Given the description of an element on the screen output the (x, y) to click on. 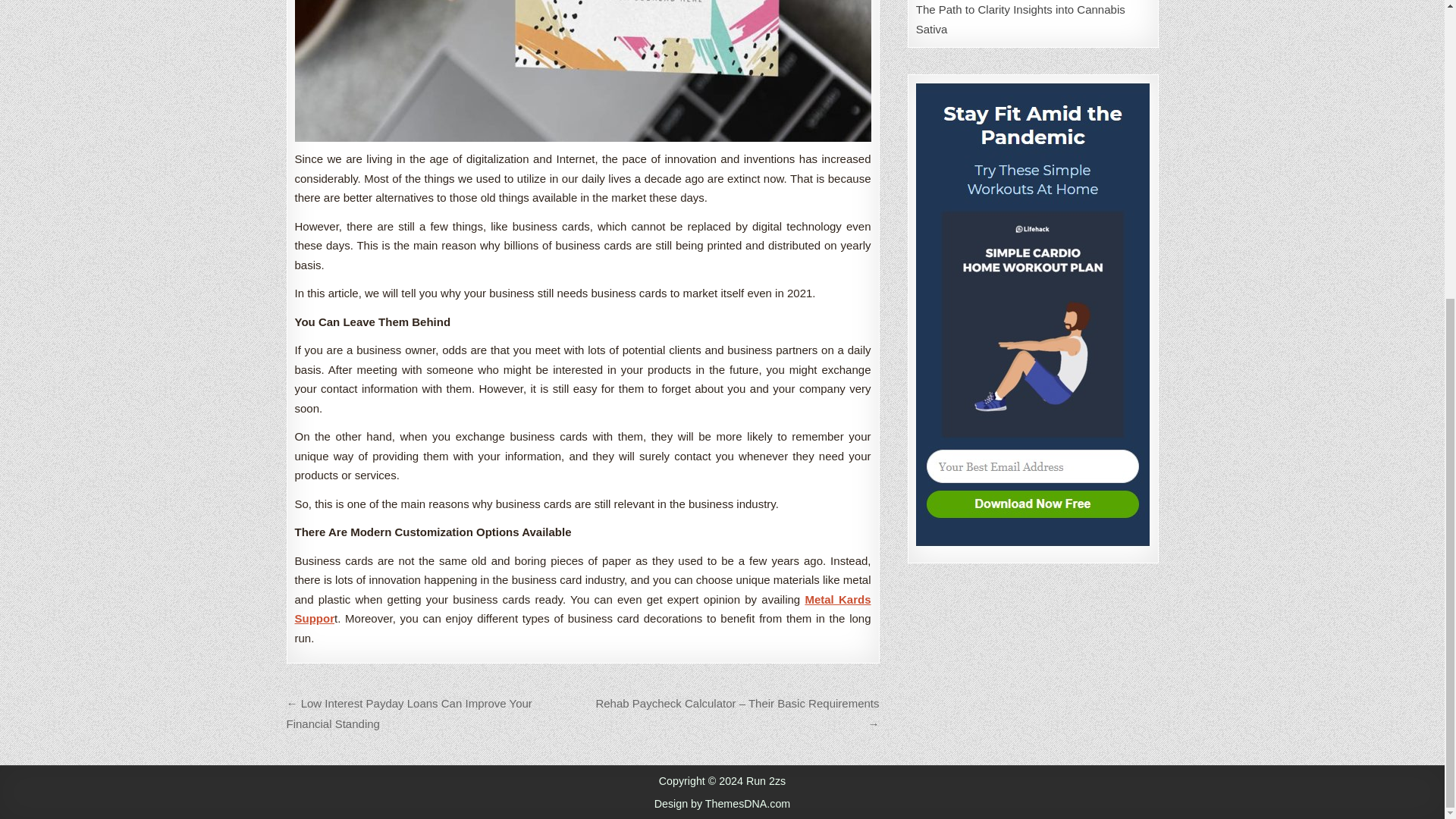
The Path to Clarity Insights into Cannabis Sativa (1020, 19)
Design by ThemesDNA.com (721, 803)
Metal Kards Suppor (582, 608)
Does Your Business Still Need Business Cards in 2021? (582, 70)
